Given the description of an element on the screen output the (x, y) to click on. 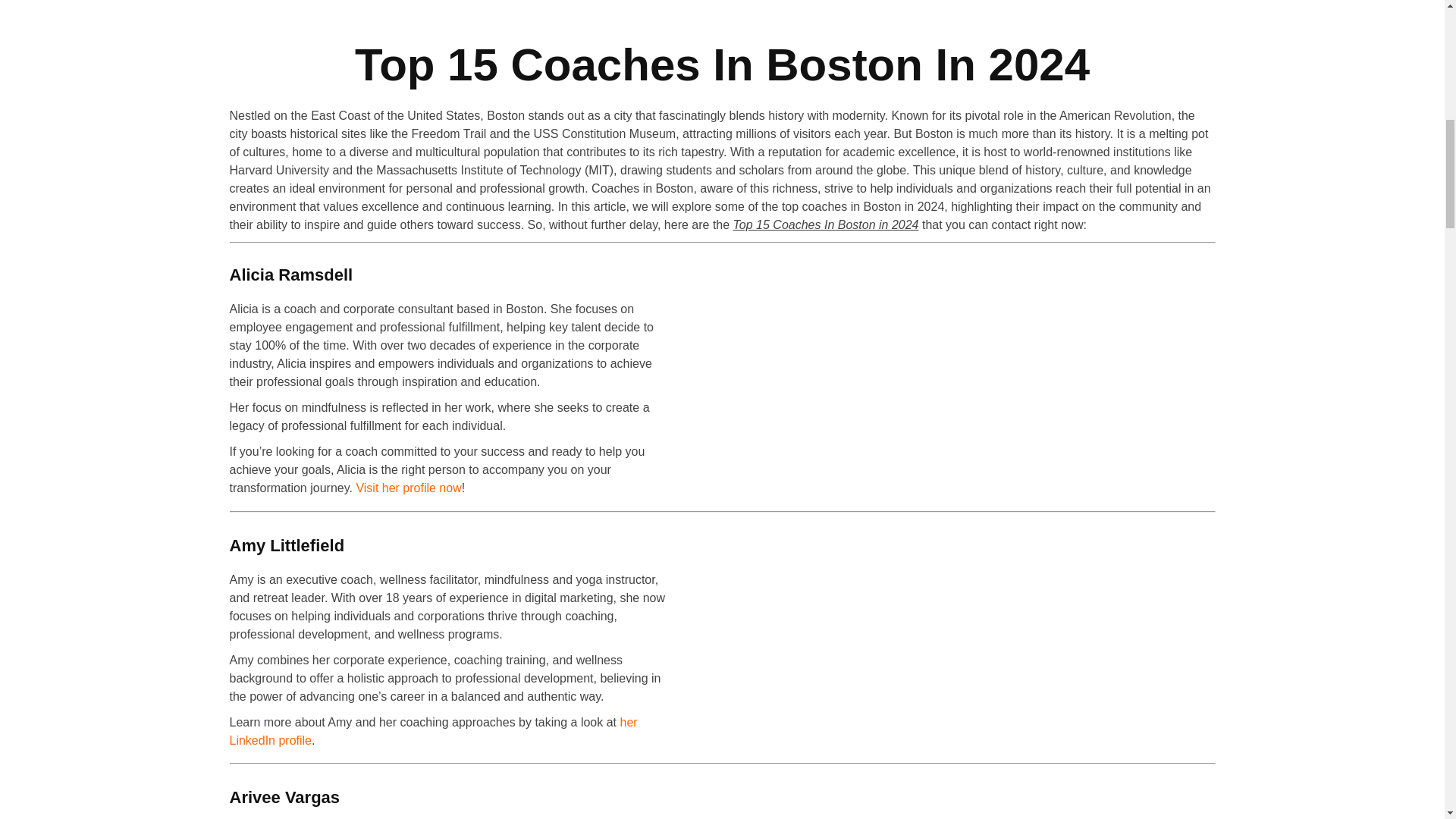
Visit her profile now (408, 487)
her LinkedIn profile (432, 730)
